Given the description of an element on the screen output the (x, y) to click on. 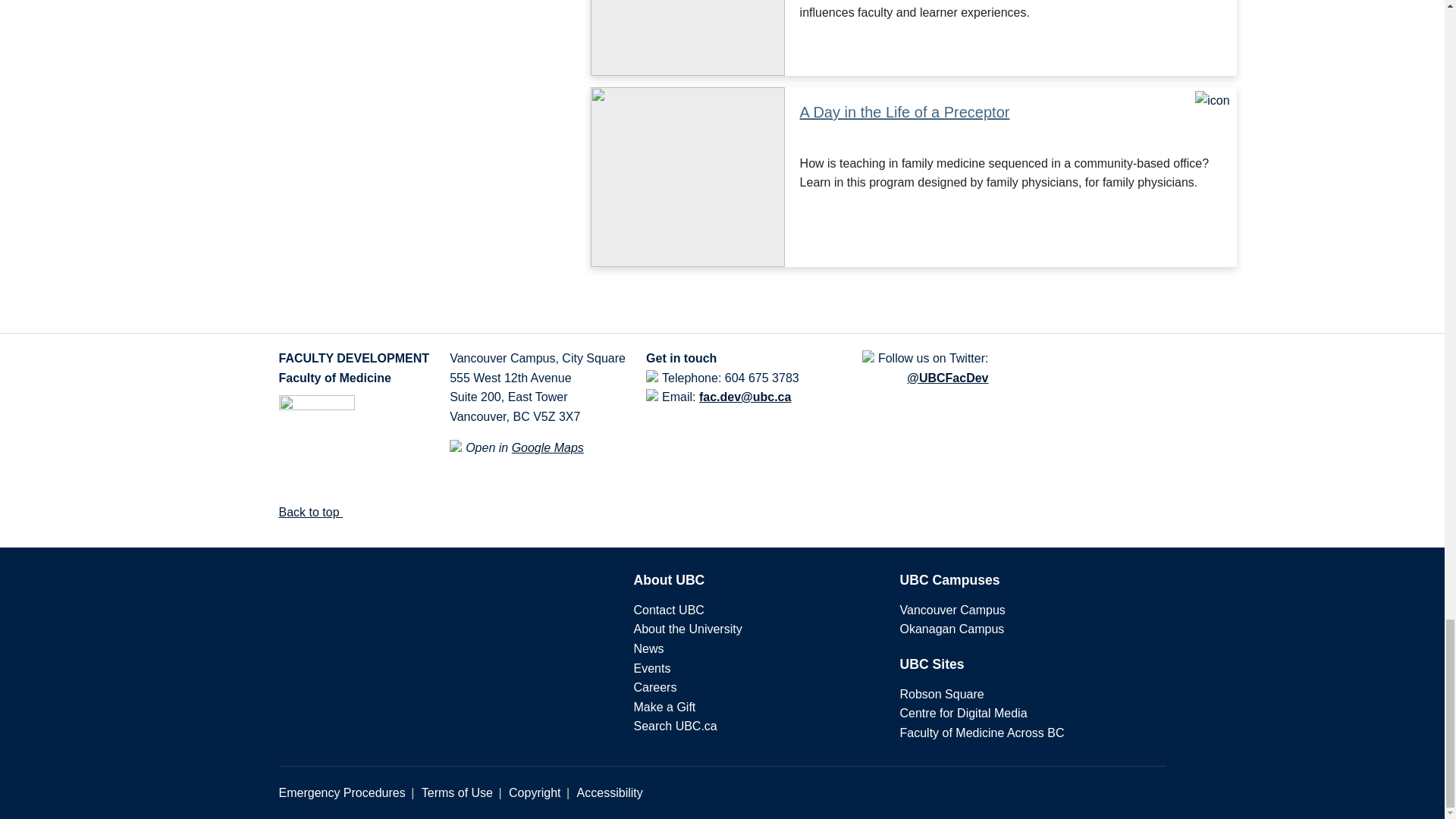
UBC Copyright (534, 792)
Accessibility (609, 792)
Emergency Procedures (342, 792)
Back to top (317, 512)
Terms of Use (457, 792)
